Given the description of an element on the screen output the (x, y) to click on. 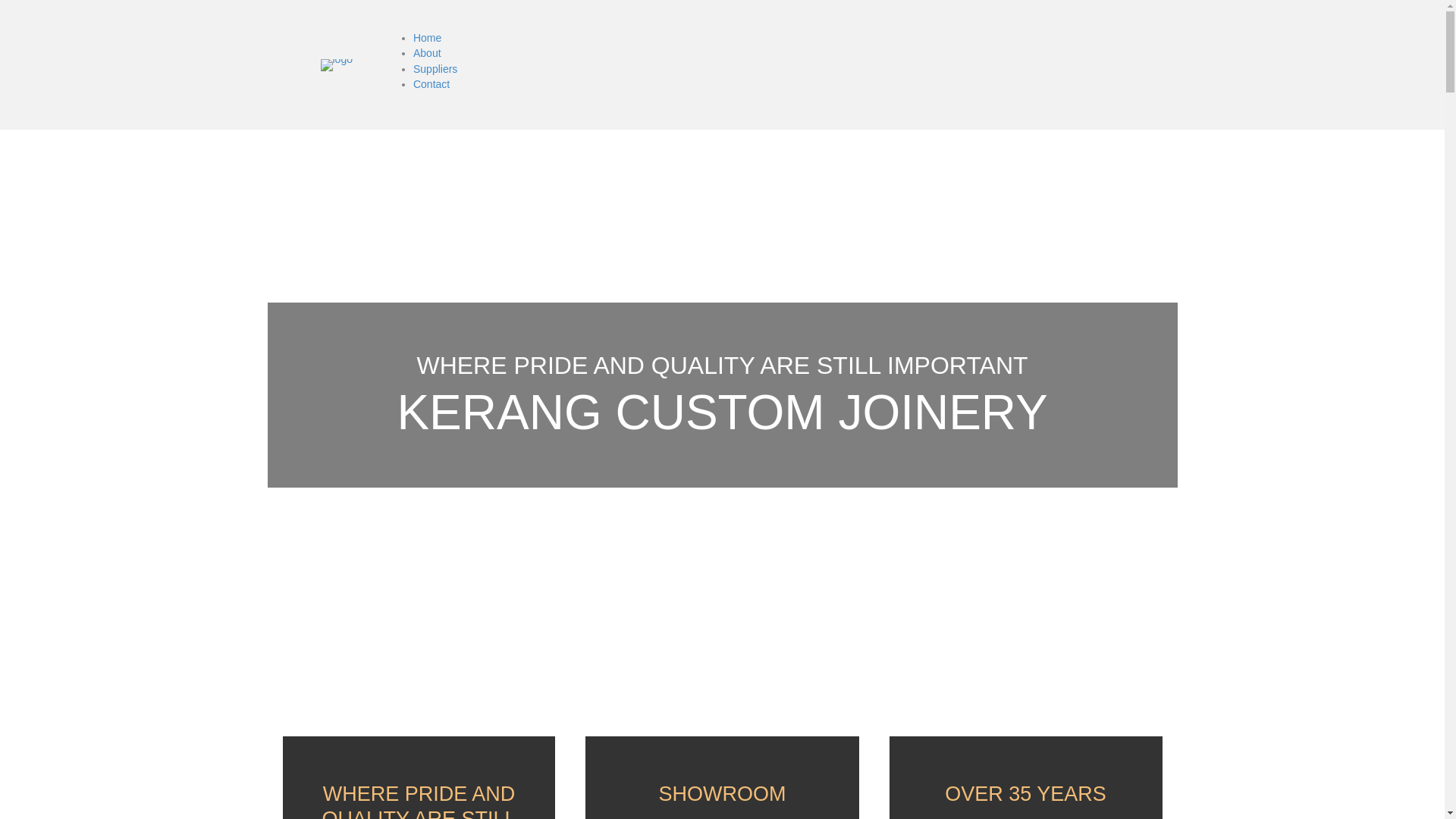
Home Element type: text (427, 37)
logo Element type: hover (335, 65)
Suppliers Element type: text (435, 68)
Contact Element type: text (431, 84)
About Element type: text (427, 53)
